Given the description of an element on the screen output the (x, y) to click on. 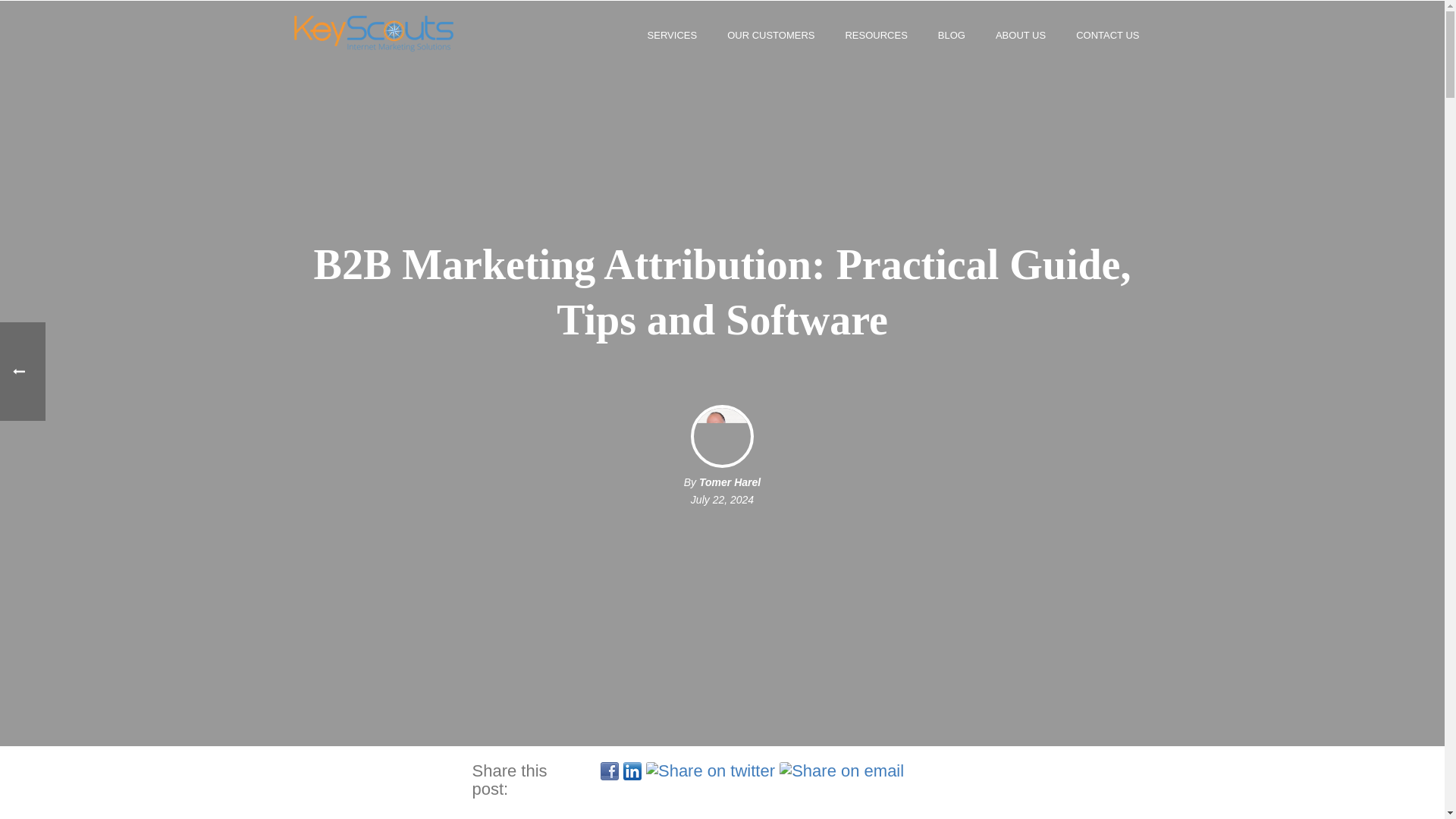
CONTACT US (1107, 33)
OUR CUSTOMERS (770, 33)
BLOG (951, 33)
Tomer Harel (729, 481)
SERVICES (672, 33)
ABOUT US (1020, 33)
RESOURCES (875, 33)
KeyScouts Logo (373, 33)
